Given the description of an element on the screen output the (x, y) to click on. 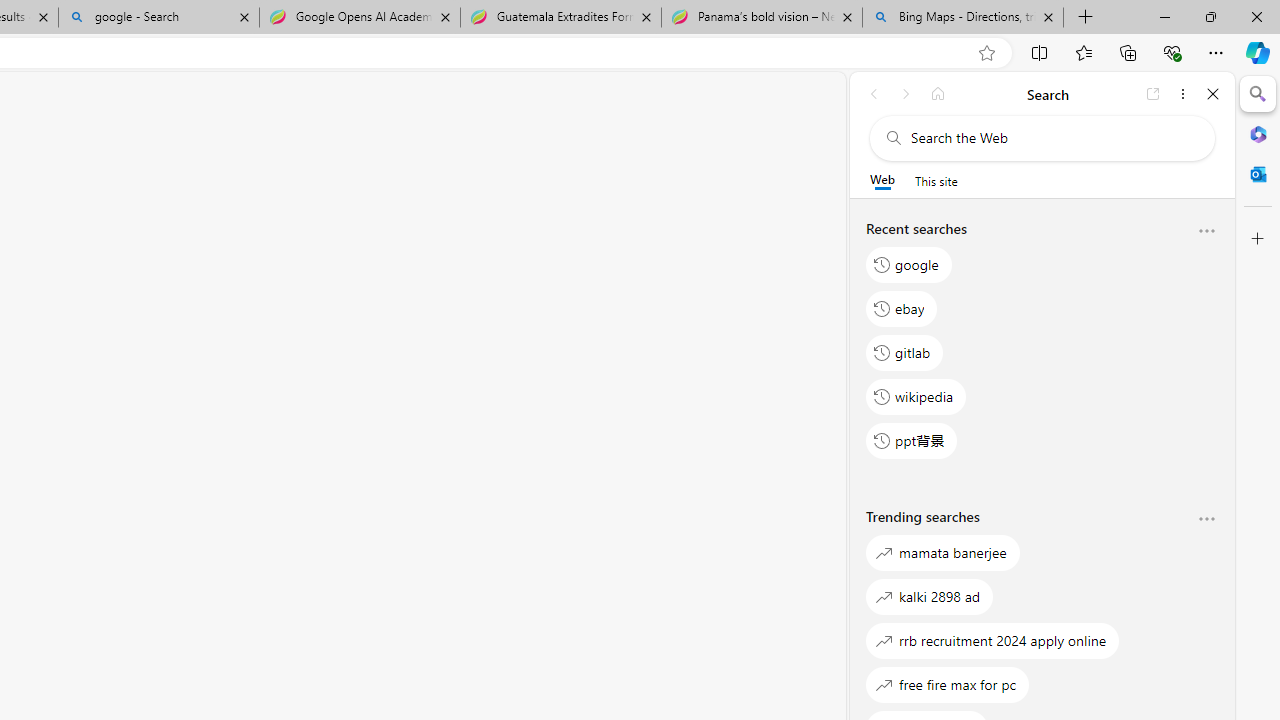
free fire max for pc (947, 684)
mamata banerjee (943, 552)
